Given the description of an element on the screen output the (x, y) to click on. 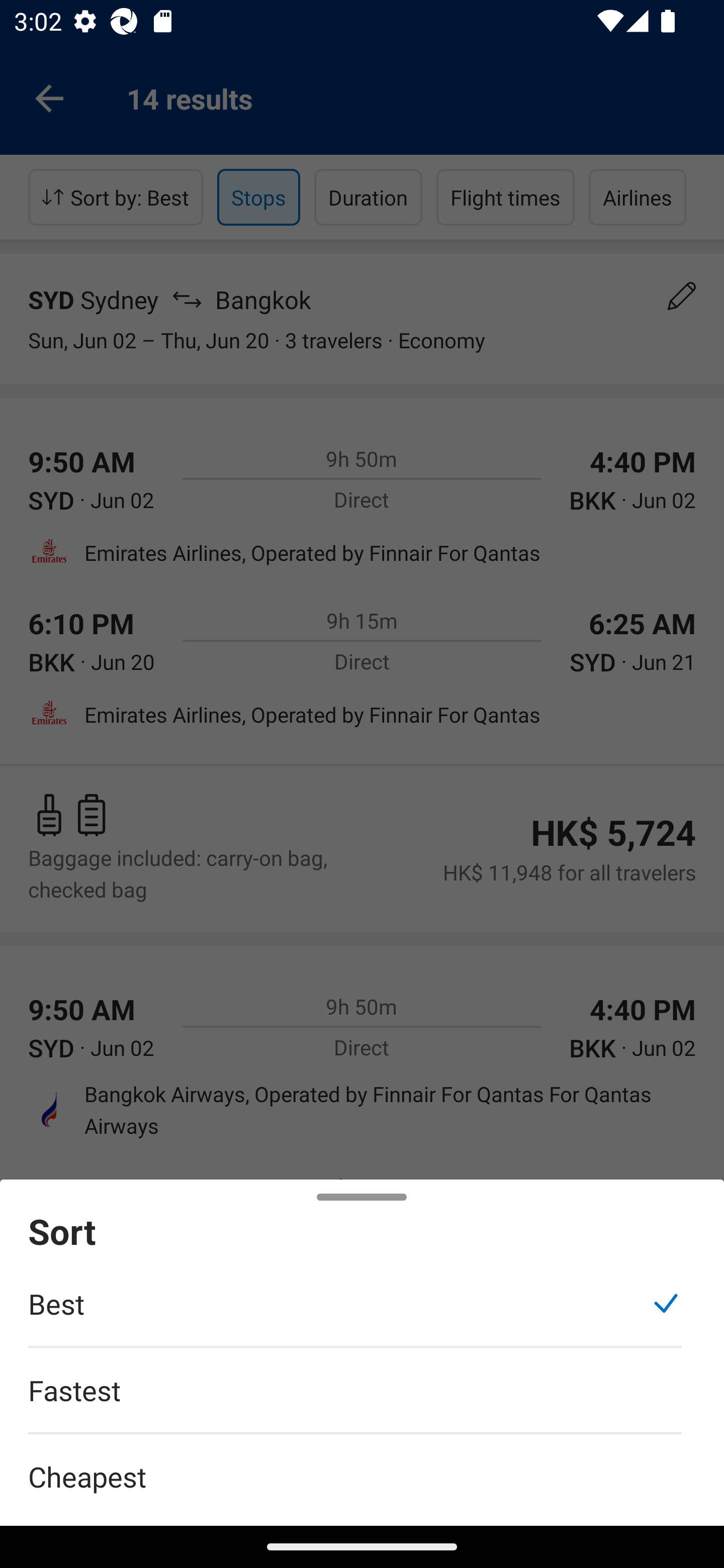
Best (355, 1313)
Fastest (355, 1399)
Cheapest (362, 1465)
